Given the description of an element on the screen output the (x, y) to click on. 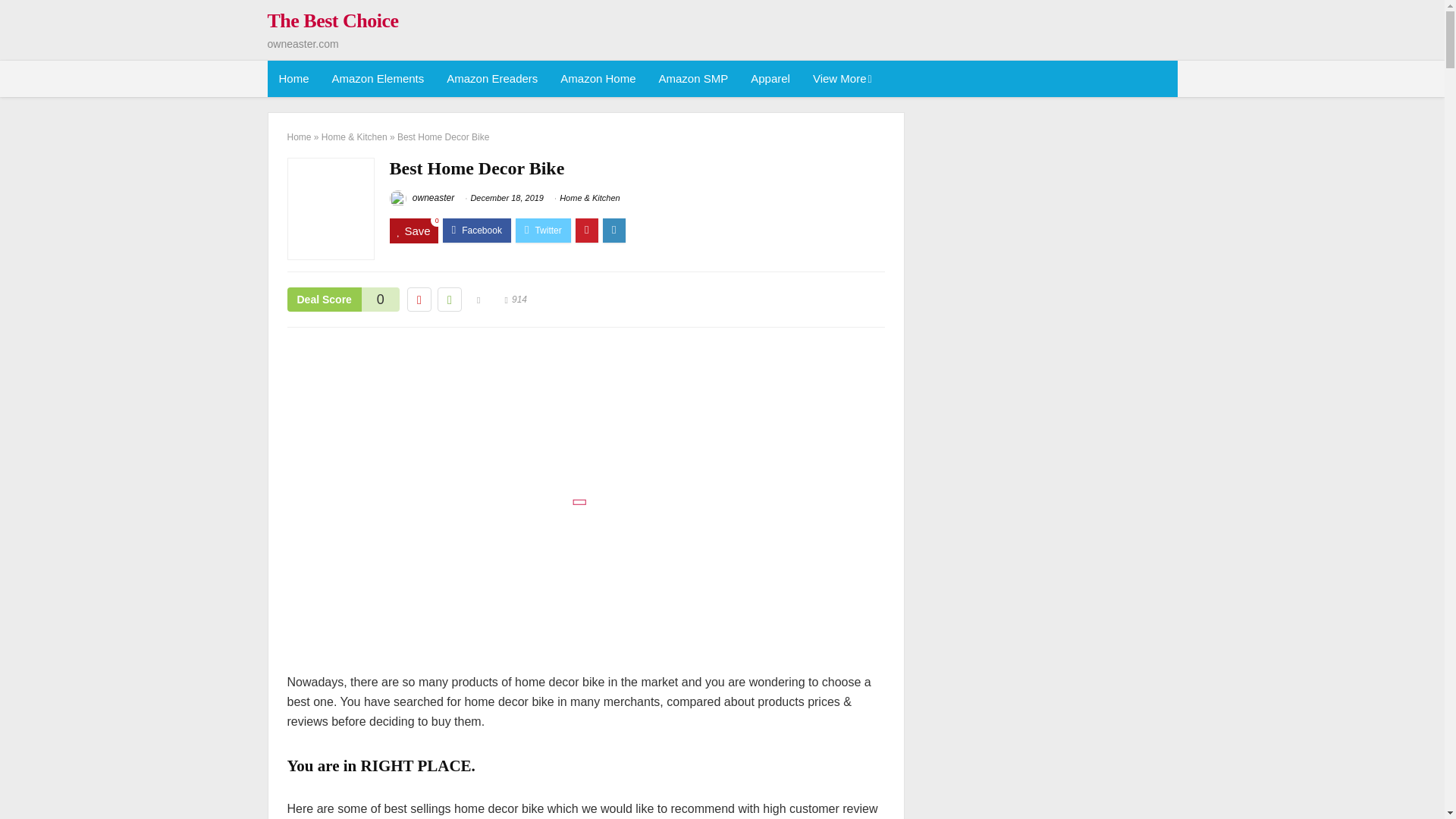
Amazon Elements (377, 78)
Amazon Home (597, 78)
Home (293, 78)
Amazon Ereaders (491, 78)
Amazon SMP (693, 78)
Apparel (770, 78)
Vote down (418, 299)
View More (841, 78)
